Given the description of an element on the screen output the (x, y) to click on. 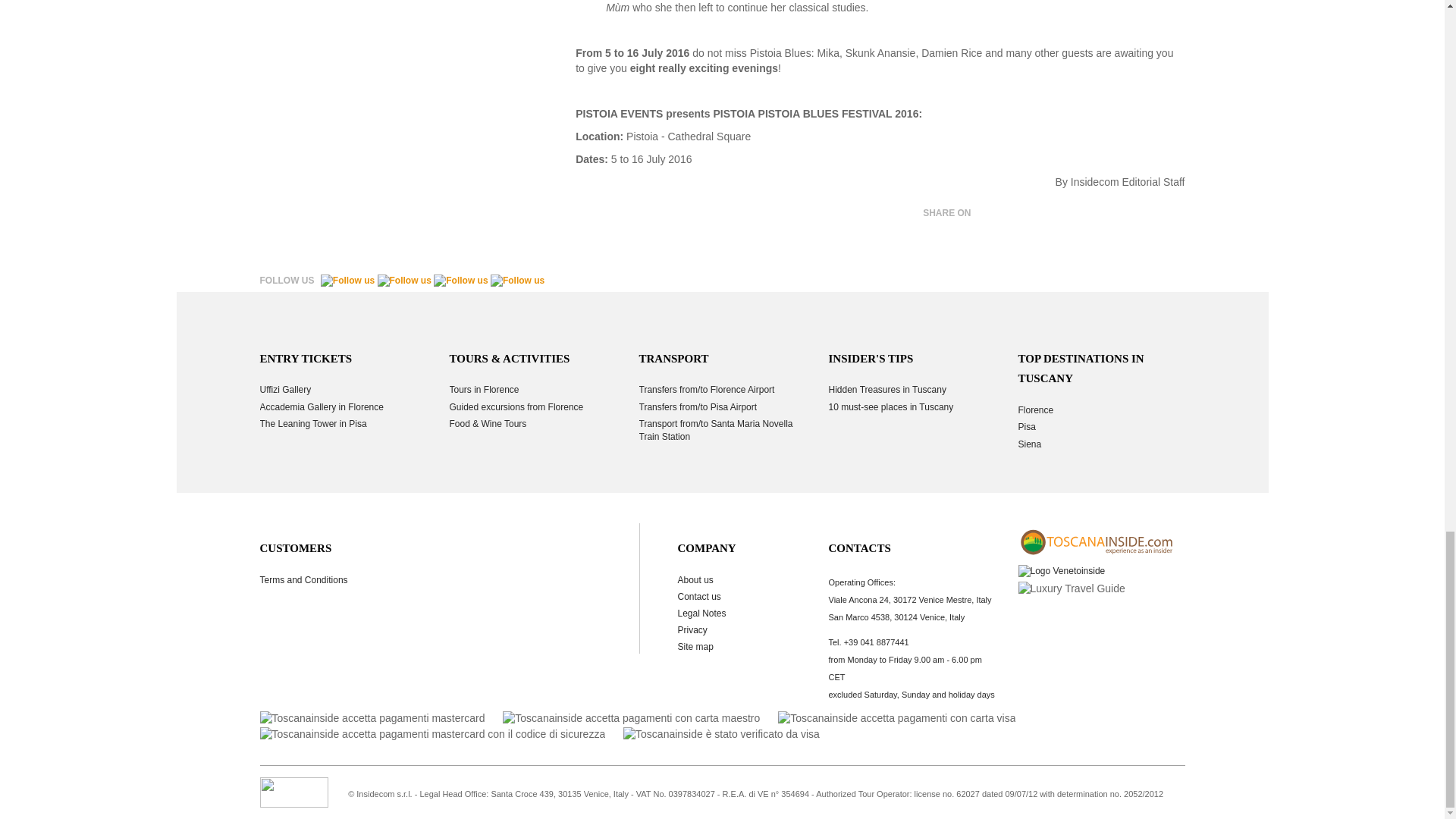
share on tumblr (1141, 213)
share on LinkedIn (1080, 213)
tumblr (1141, 213)
Mail (1111, 213)
LinkedIn (1080, 213)
share on Twitter (1020, 213)
Reddit (1172, 213)
Facebook (990, 213)
share on Facebook (990, 213)
share on Reddit (1172, 213)
Twitter (1020, 213)
